Given the description of an element on the screen output the (x, y) to click on. 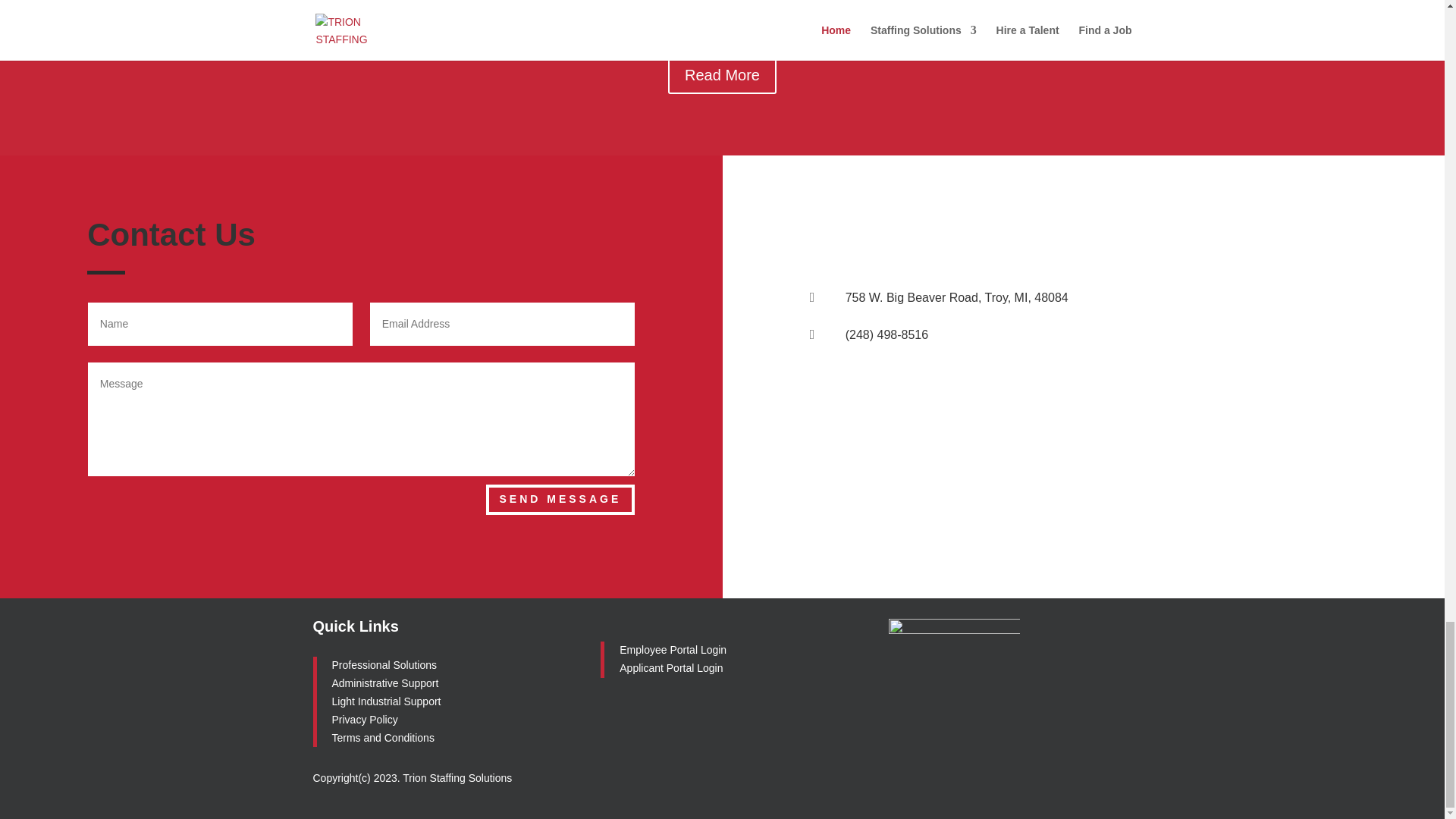
Administrative Support (385, 683)
Read More (722, 75)
weblogo (954, 655)
Employee Portal Login (673, 649)
Light Industrial Support (386, 701)
Professional Solutions (384, 664)
Applicant Portal Login  (672, 667)
Privacy Policy (364, 719)
SEND MESSAGE (559, 499)
Terms and Conditions (382, 737)
